Given the description of an element on the screen output the (x, y) to click on. 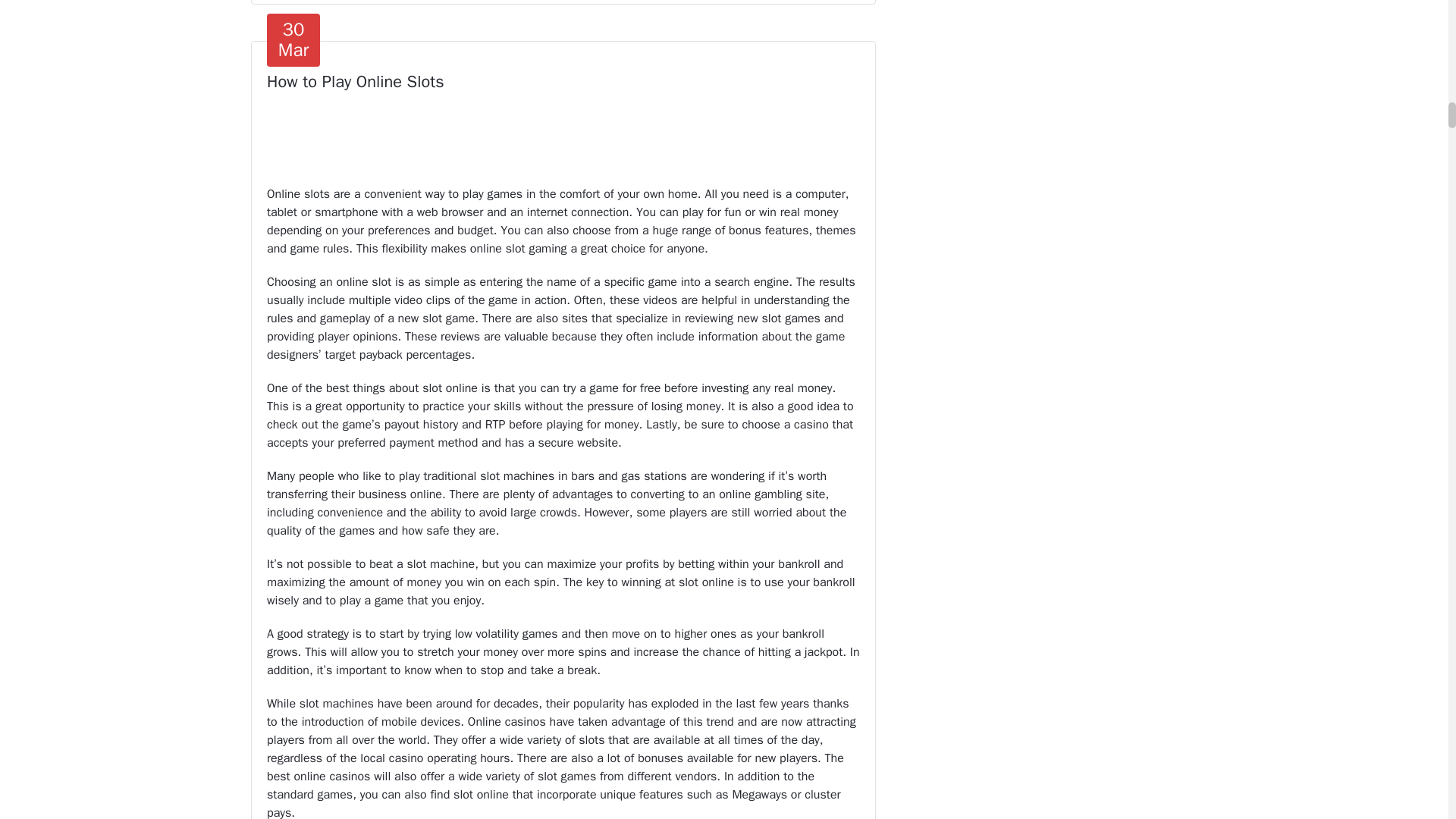
How to Play Online Slots (355, 81)
